Given the description of an element on the screen output the (x, y) to click on. 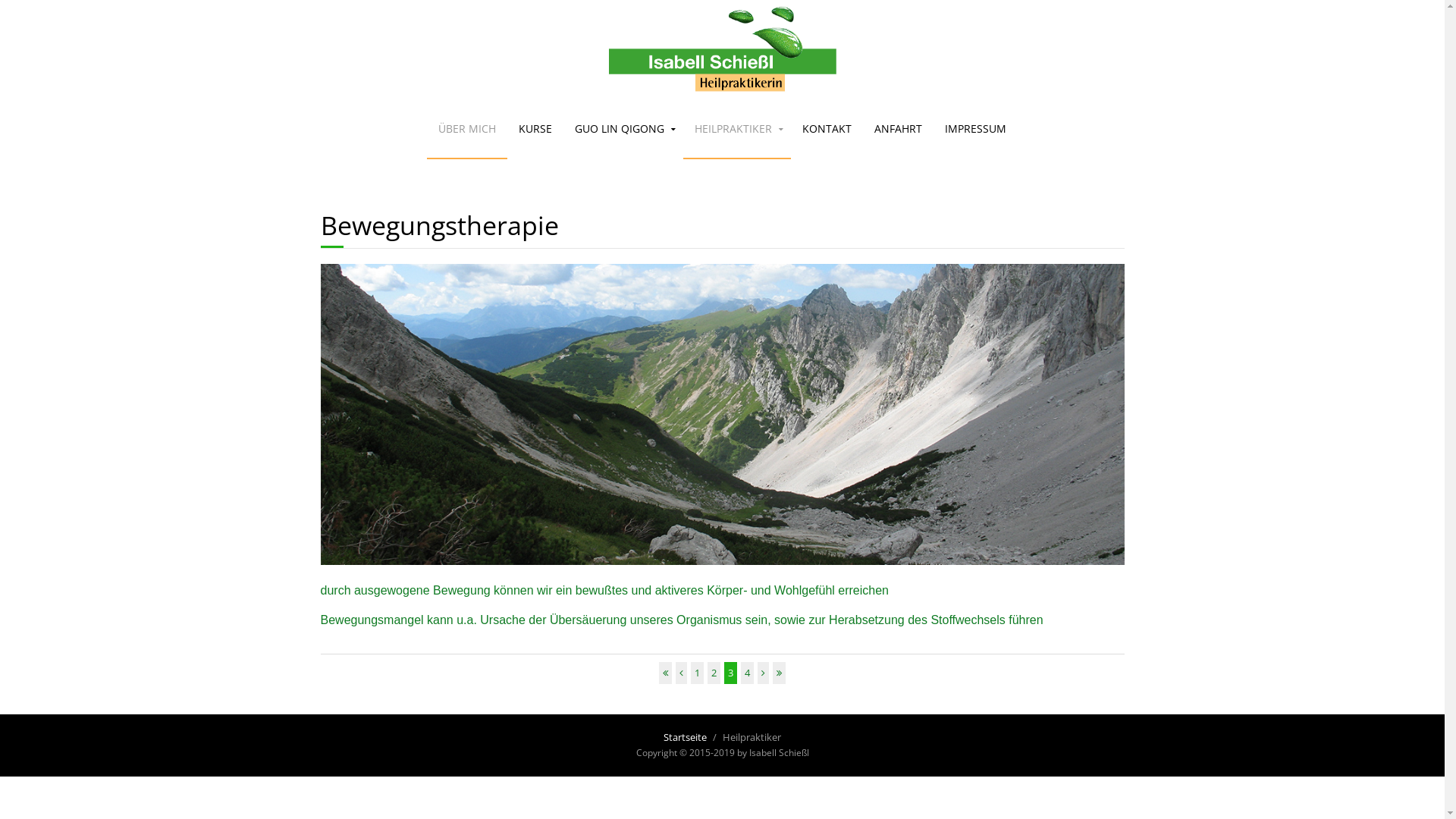
IMPRESSUM Element type: text (975, 128)
Ende Element type: hover (778, 673)
Startseite Element type: text (684, 736)
Weiter Element type: hover (762, 673)
2 Element type: text (713, 673)
KURSE Element type: text (535, 128)
Start Element type: hover (664, 673)
GUO LIN QIGONG Element type: text (623, 128)
1 Element type: text (696, 673)
KONTAKT Element type: text (826, 128)
4 Element type: text (746, 673)
Bewegungstherapie Element type: text (439, 224)
ANFAHRT Element type: text (897, 128)
HEILPRAKTIKER Element type: text (736, 128)
